Given the description of an element on the screen output the (x, y) to click on. 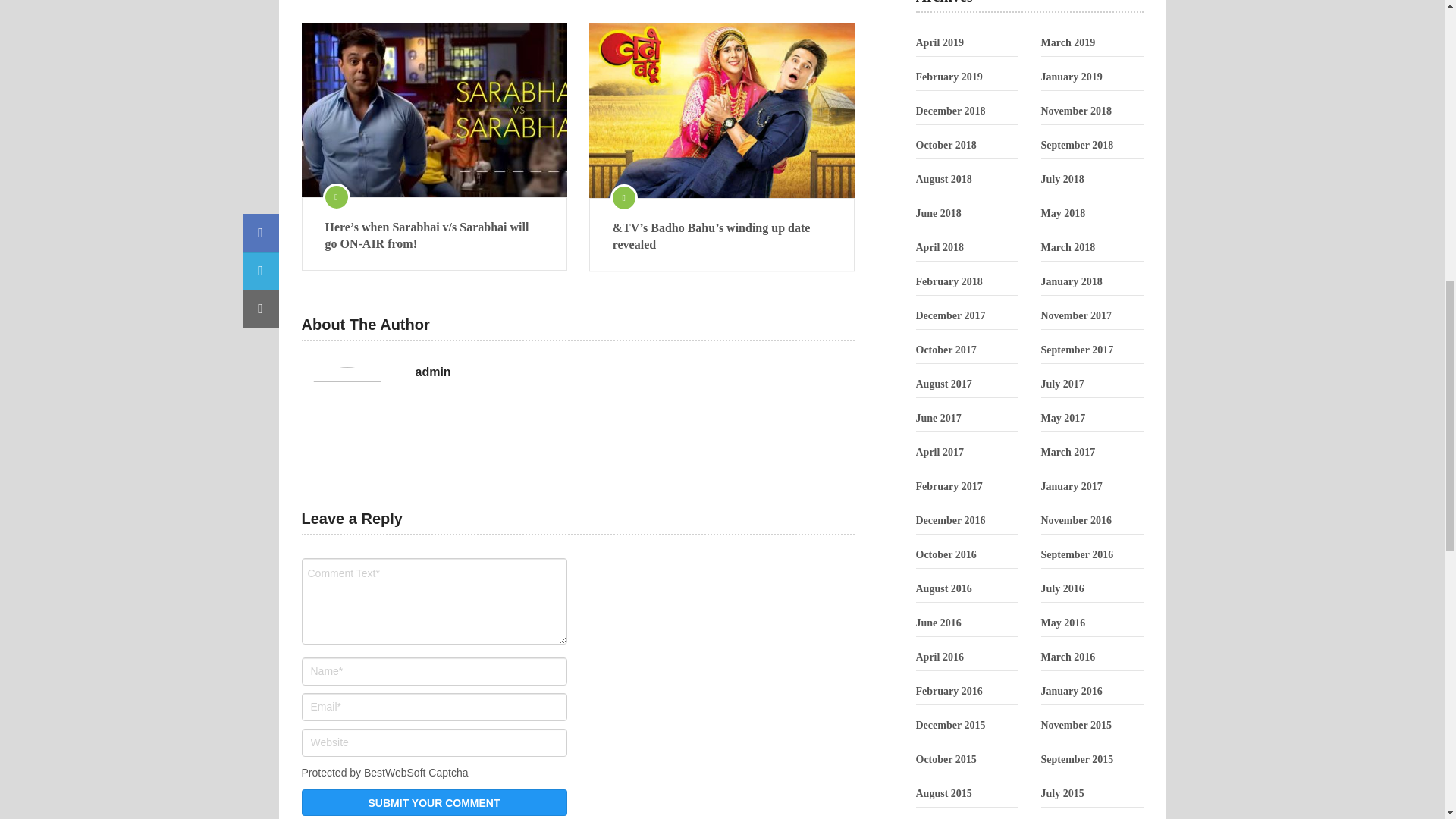
Submit Your Comment (434, 802)
admin (432, 371)
Submit Your Comment (434, 802)
